Given the description of an element on the screen output the (x, y) to click on. 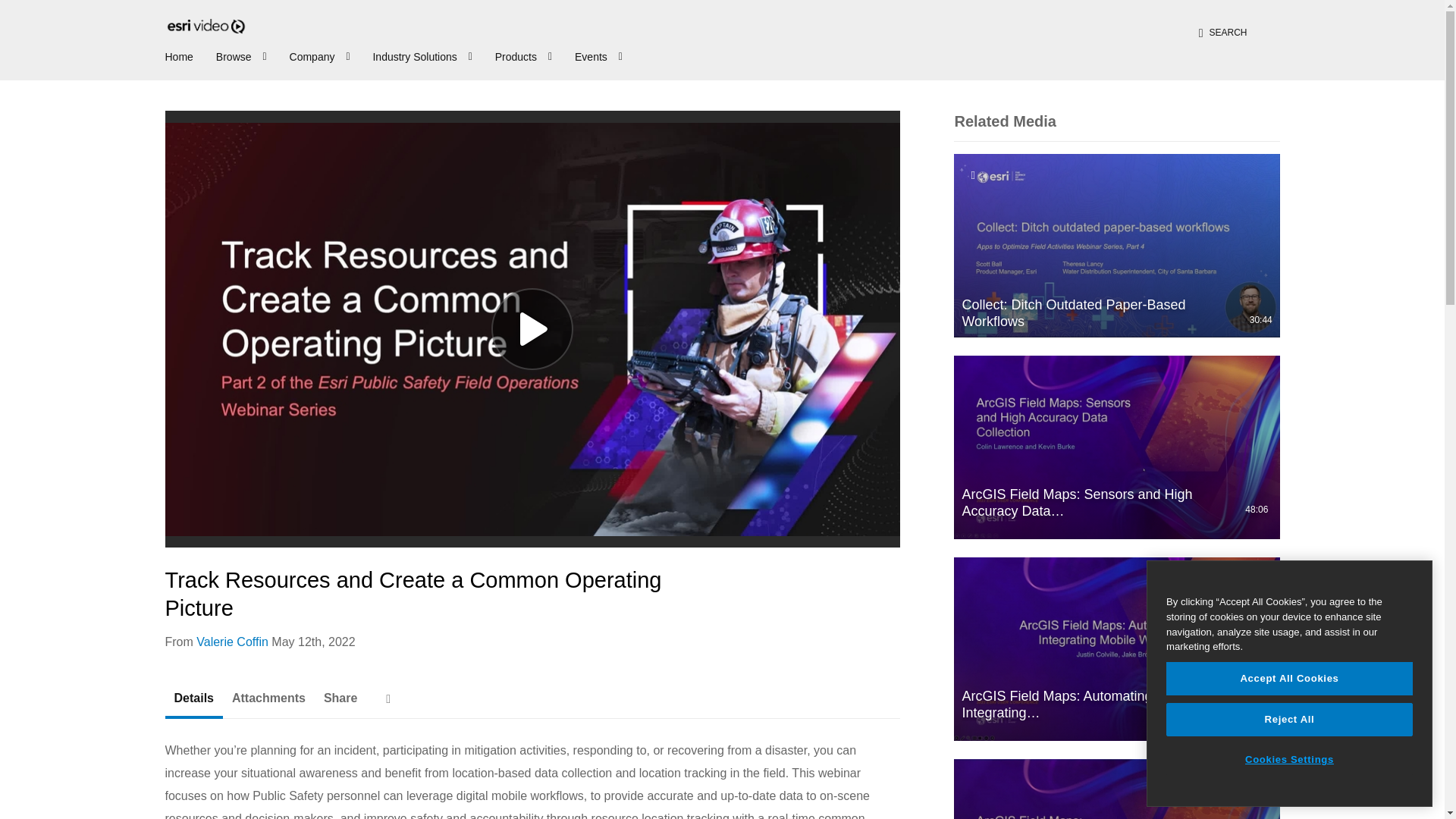
Industry Solutions (424, 54)
ArcGIS Field Maps: Sensors and High Accuracy Data Collection (1116, 446)
Company (321, 54)
Home (179, 54)
Browse (242, 54)
Collect: Ditch Outdated Paper-Based Workflows (1116, 245)
SEARCH (1223, 31)
